Given the description of an element on the screen output the (x, y) to click on. 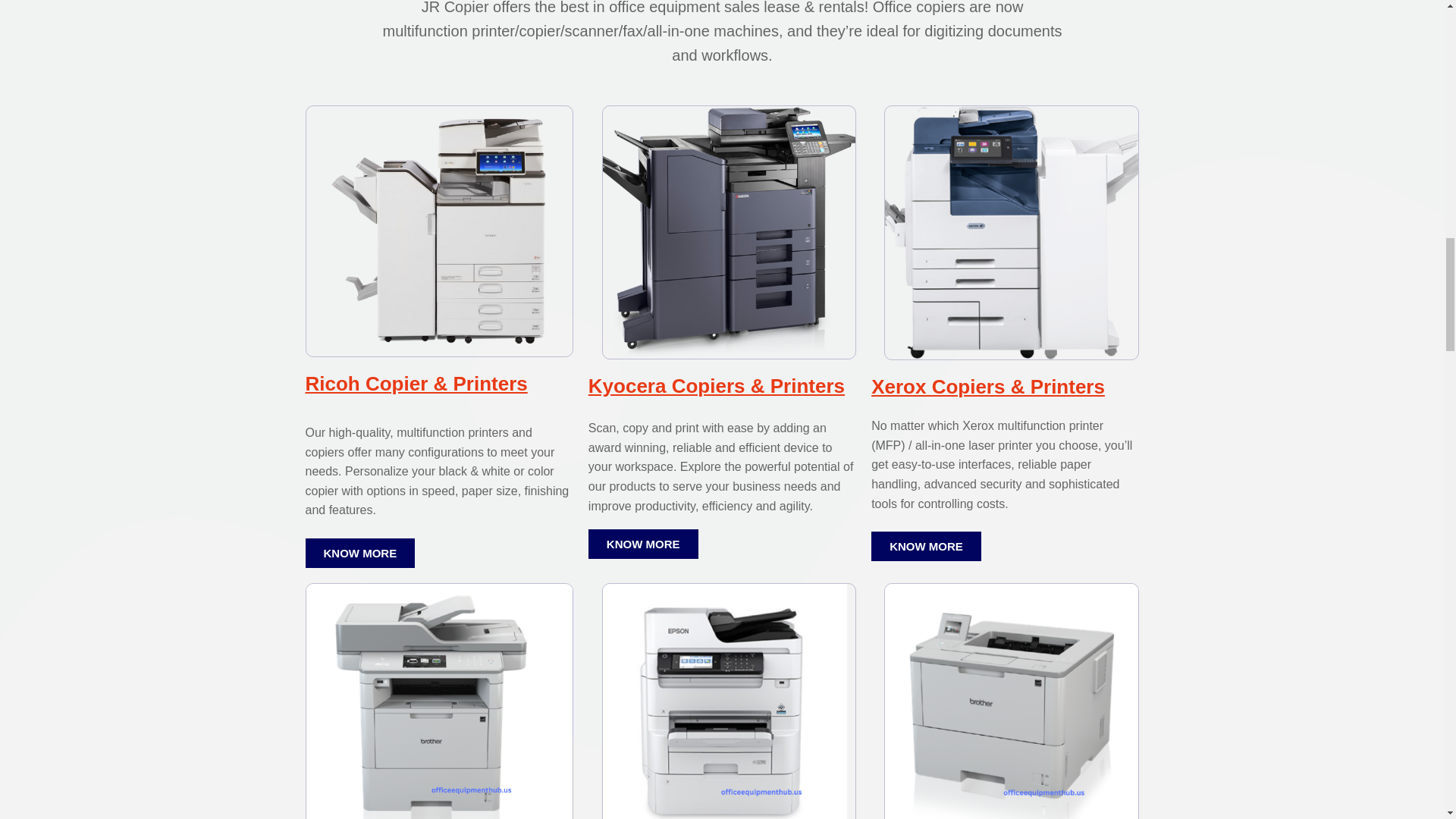
Brother Printer (1010, 701)
KNOW MORE (643, 543)
KNOW MORE (925, 546)
altalink-xerox-copier-1 (1010, 232)
KNOW MORE (359, 553)
Epson MFD Printer USA (729, 701)
